Given the description of an element on the screen output the (x, y) to click on. 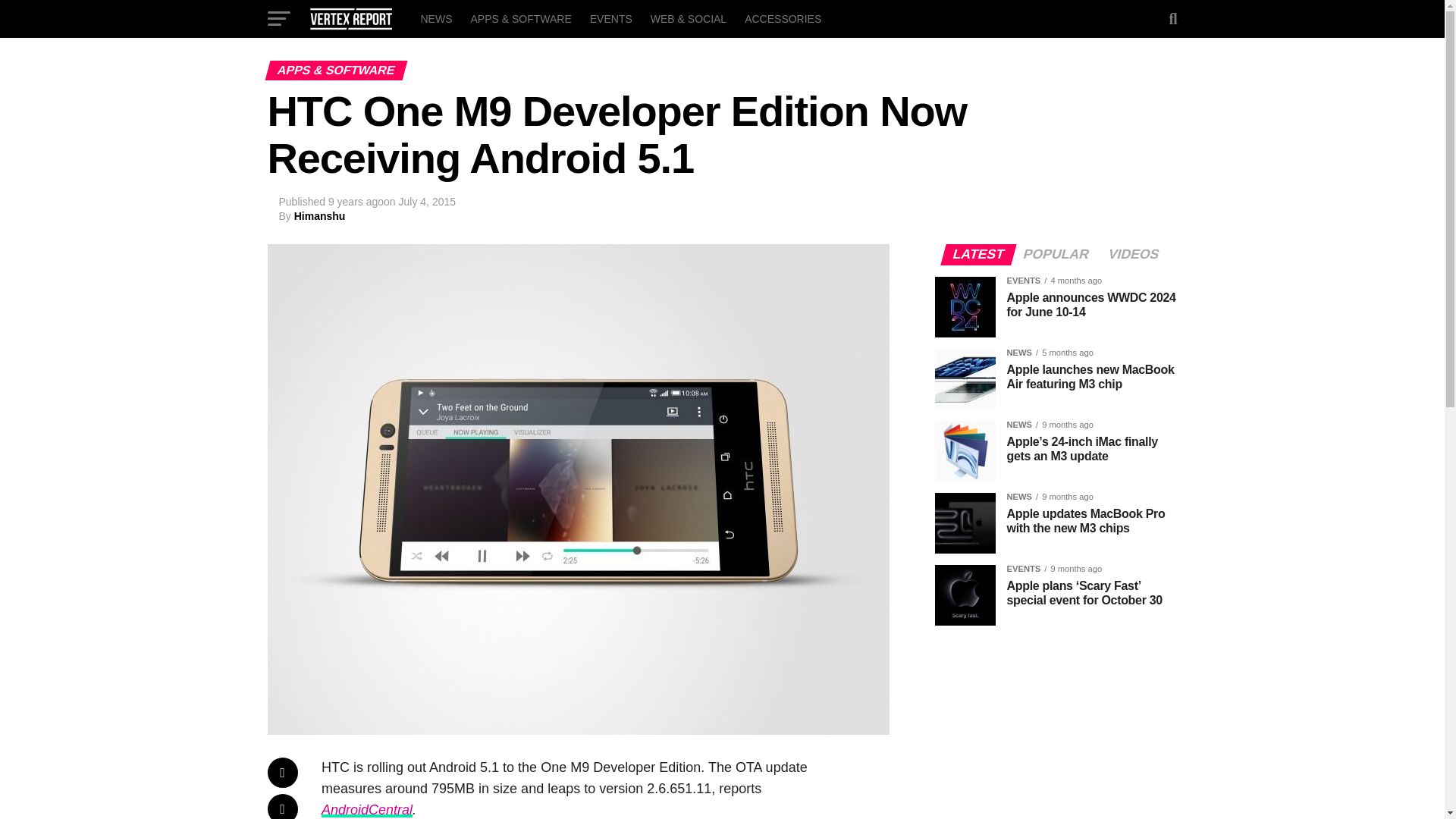
NEWS (435, 18)
Posts by Himanshu (320, 215)
Events (611, 18)
ACCESSORIES (782, 18)
EVENTS (611, 18)
News (435, 18)
